Given the description of an element on the screen output the (x, y) to click on. 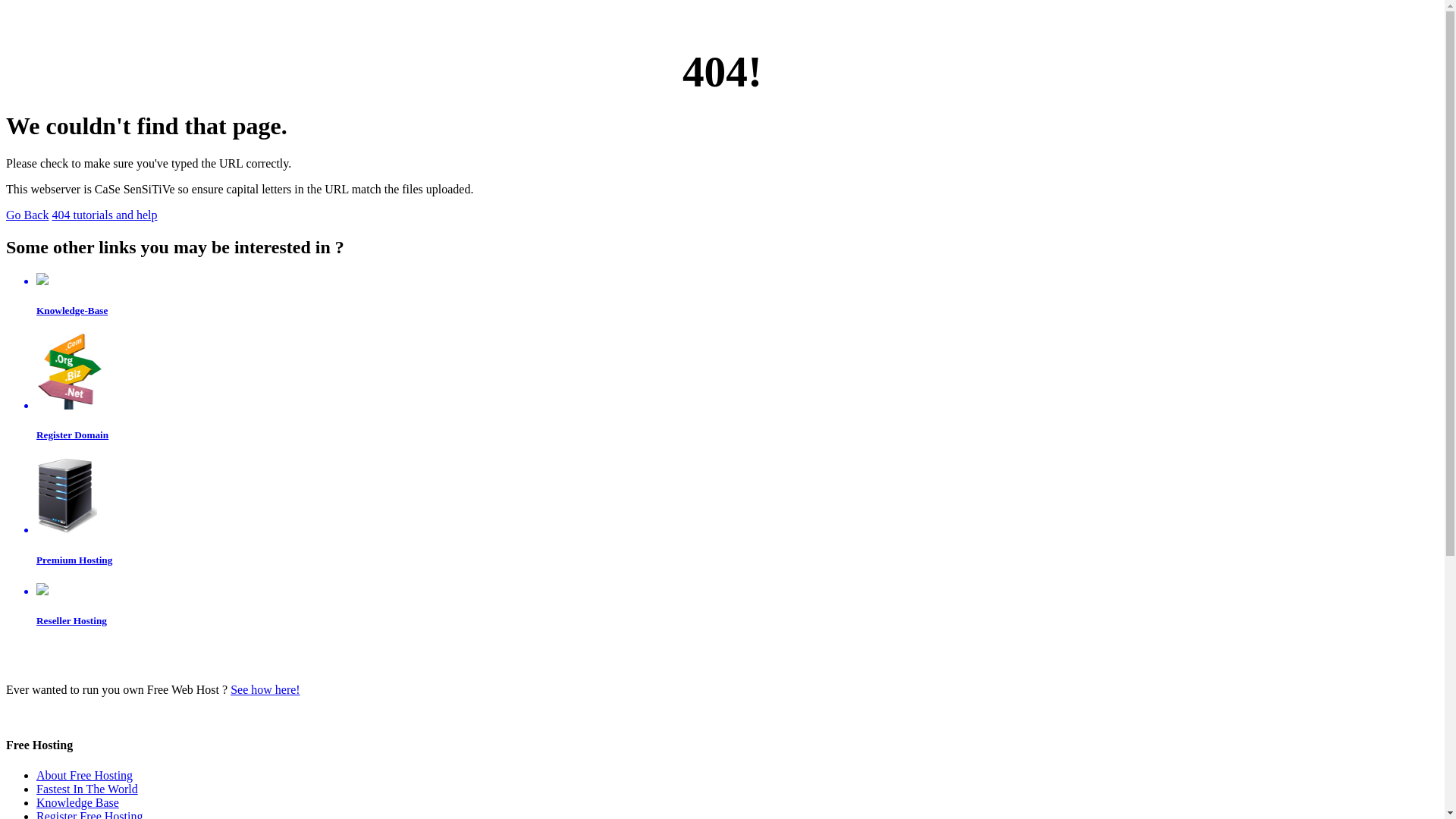
Knowledge-Base Element type: text (737, 294)
Reseller Hosting Element type: text (737, 605)
Premium Hosting Element type: text (737, 511)
See how here! Element type: text (265, 689)
About Free Hosting Element type: text (84, 774)
Fastest In The World Element type: text (87, 788)
404 tutorials and help Element type: text (103, 214)
Register Domain Element type: text (737, 387)
Go Back Element type: text (27, 214)
Knowledge Base Element type: text (77, 802)
